Given the description of an element on the screen output the (x, y) to click on. 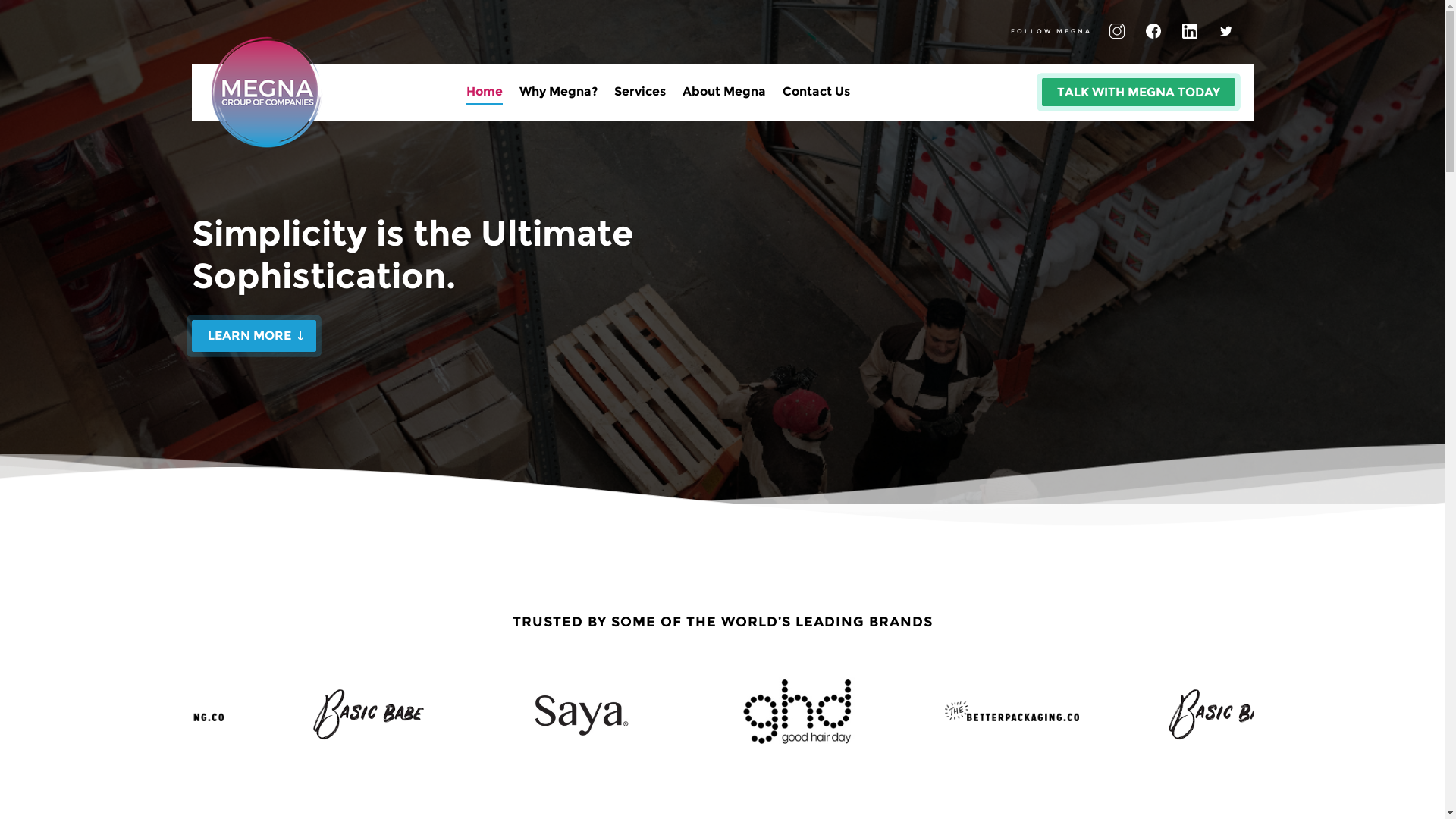
Simplicity is the Ultimate Sophistication. Element type: text (411, 254)
Why Megna? Element type: text (557, 95)
Contact Us Element type: text (816, 95)
Services Element type: text (639, 95)
Home Element type: text (483, 95)
TALK WITH MEGNA TODAY Element type: text (1138, 92)
About Megna Element type: text (723, 95)
LEARN MORE Element type: text (253, 335)
